Given the description of an element on the screen output the (x, y) to click on. 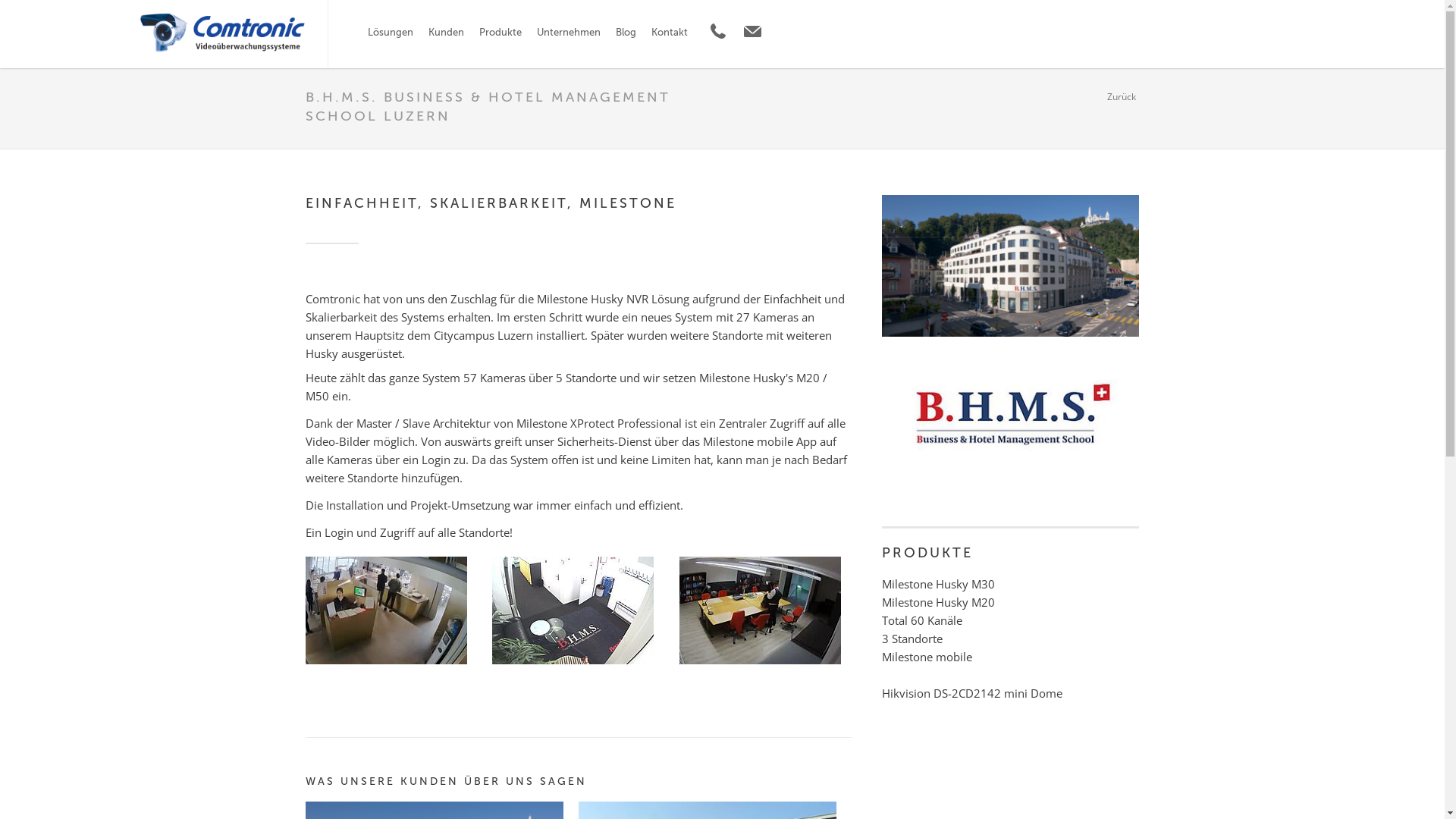
Unternehmen Element type: text (568, 34)
Kontakt Element type: text (669, 34)
Blog Element type: text (625, 34)
Produkte Element type: text (500, 34)
Kunden Element type: text (446, 34)
